Given the description of an element on the screen output the (x, y) to click on. 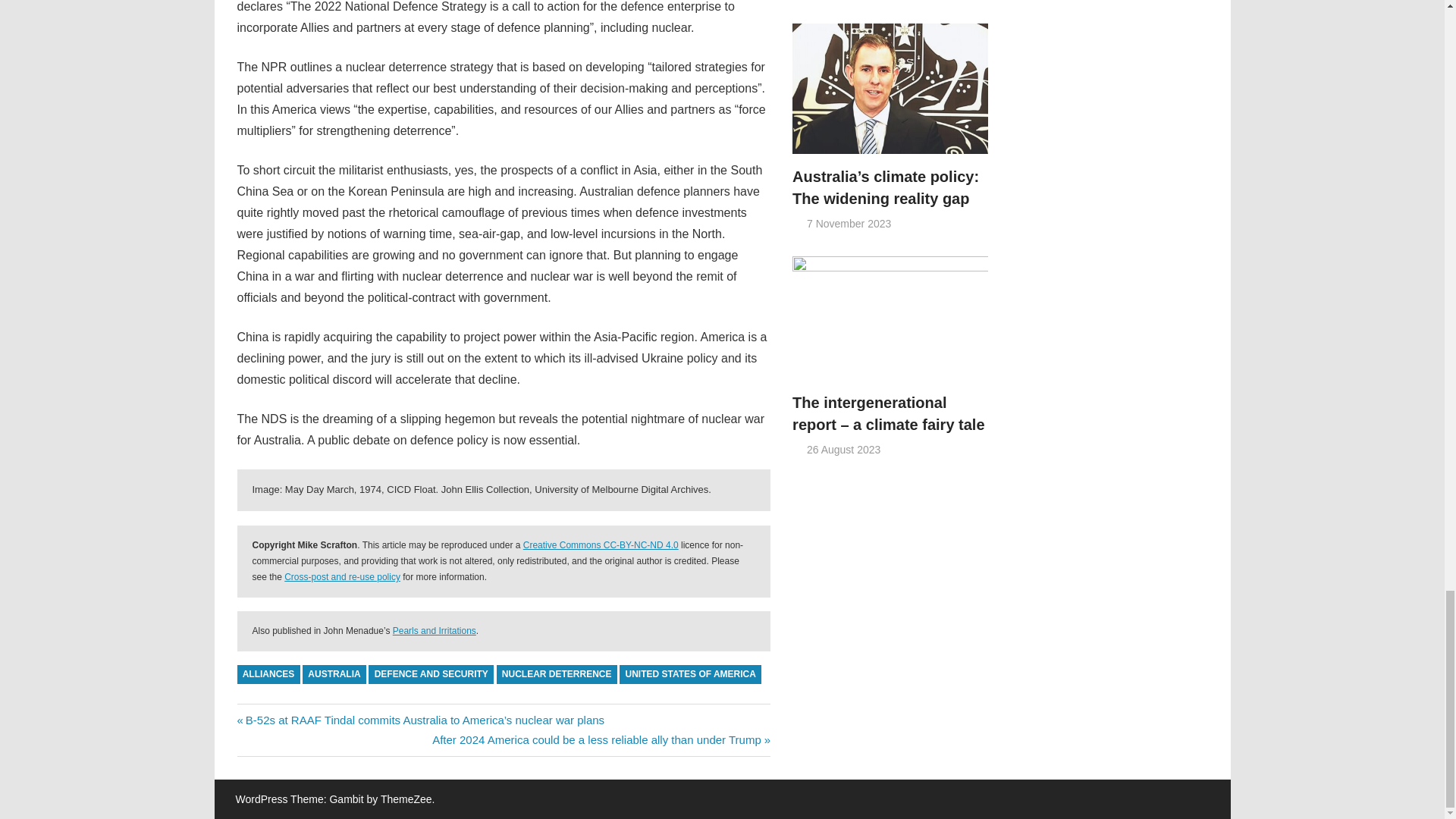
NUCLEAR DETERRENCE (556, 674)
2:23 pm (848, 223)
DEFENCE AND SECURITY (430, 674)
ALLIANCES (267, 674)
Cross-post and re-use policy (341, 576)
AUSTRALIA (334, 674)
Creative Commons CC-BY-NC-ND 4.0 (600, 544)
UNITED STATES OF AMERICA (690, 674)
Pearls and Irritations (434, 630)
